Given the description of an element on the screen output the (x, y) to click on. 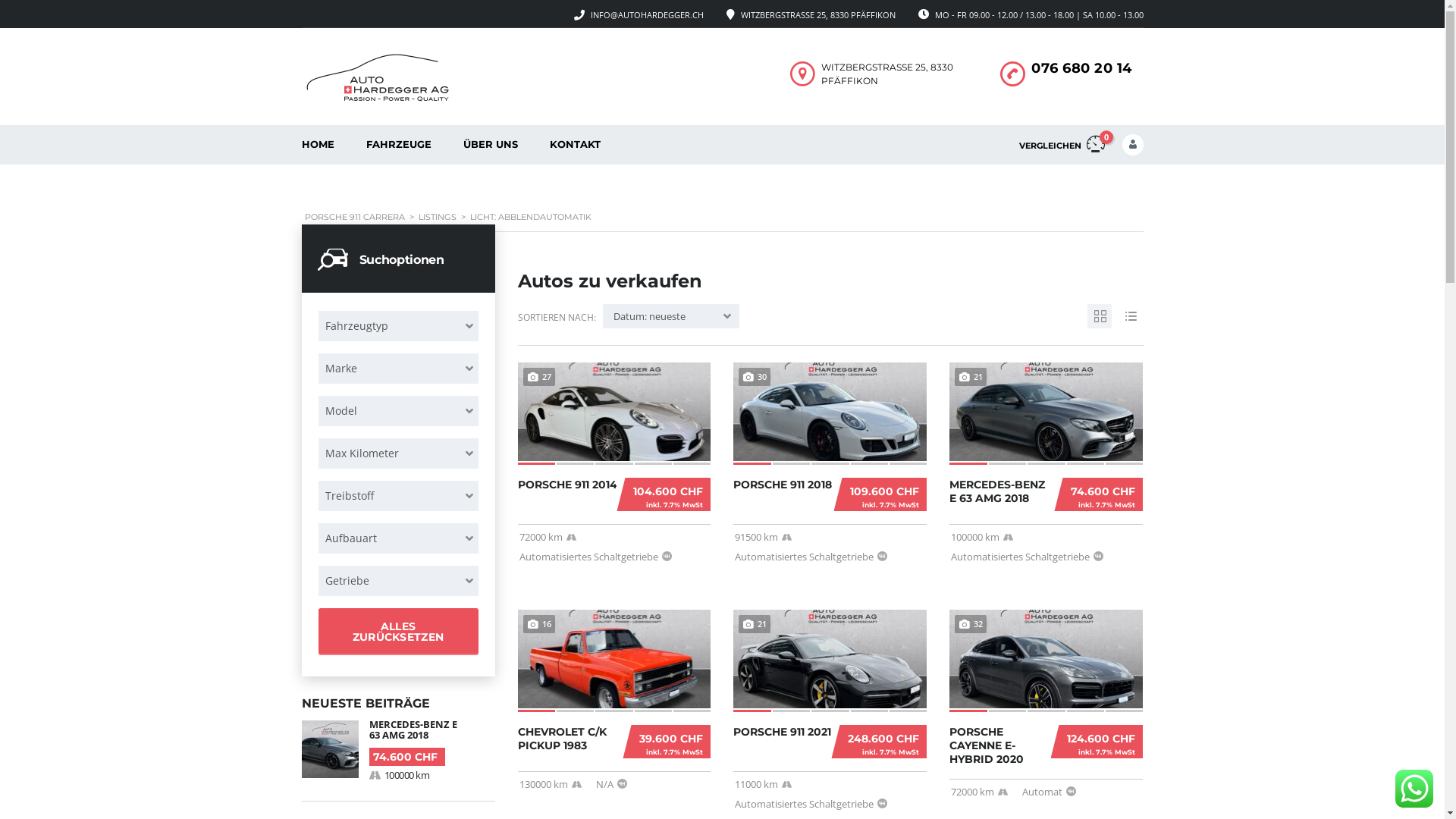
HOME Element type: text (317, 144)
Anmelden Element type: text (1096, 373)
076 680 20 14 Element type: text (1081, 67)
MERCEDES-BENZ E 63 AMG 2018
74.600 CHF
100000 km Element type: text (398, 750)
Startseite Element type: hover (377, 77)
INFO@AUTOHARDEGGER.CH Element type: text (645, 14)
PORSCHE 911 CARRERA Element type: text (354, 216)
KONTAKT Element type: text (574, 144)
VERGLEICHEN
0 Element type: text (1060, 144)
FAHRZEUGE Element type: text (398, 144)
LISTINGS Element type: text (437, 216)
